Given the description of an element on the screen output the (x, y) to click on. 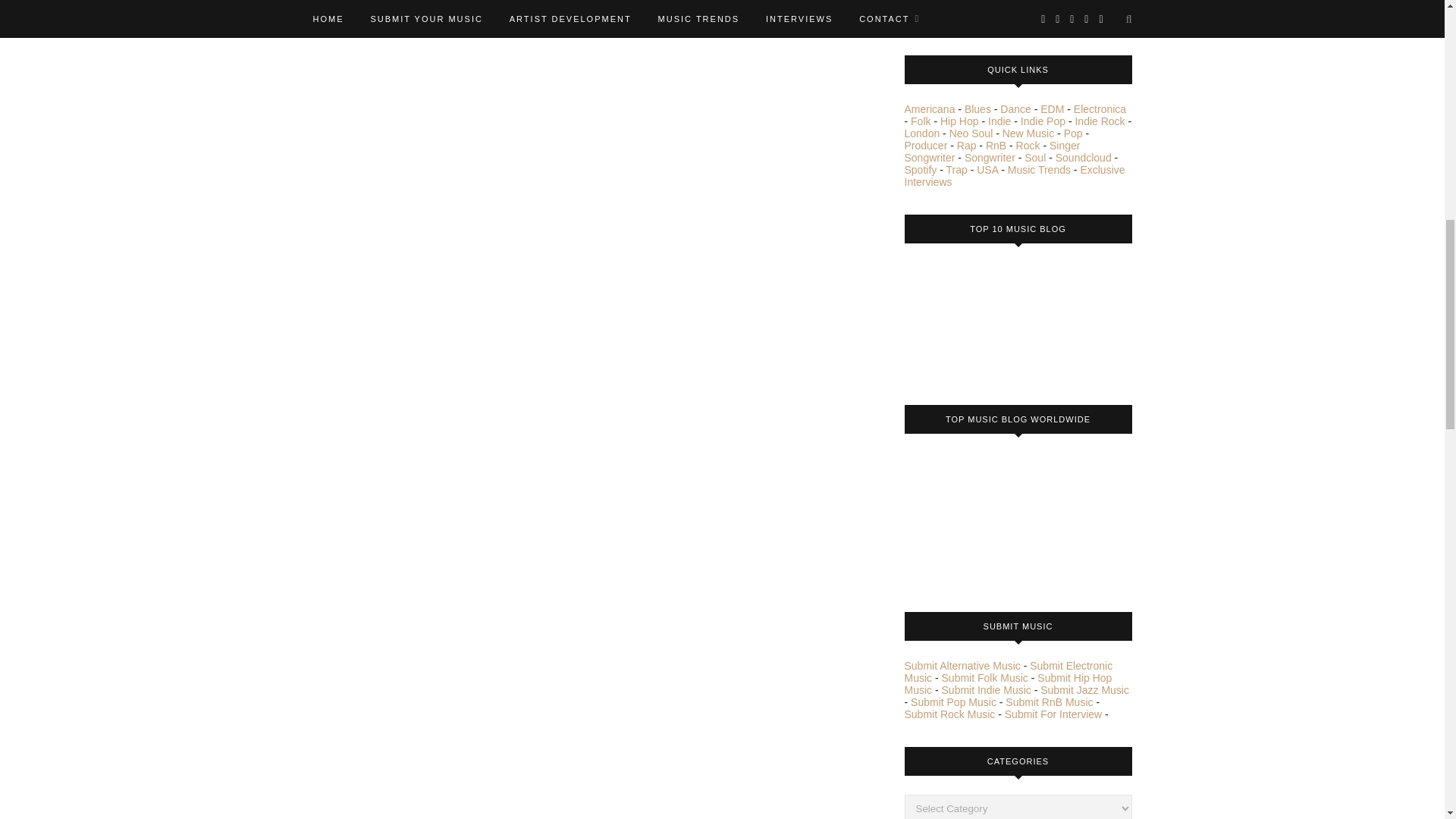
Dance (1015, 109)
Indie Rock (1099, 121)
New Music (1028, 133)
Folk (920, 121)
London (921, 133)
Hip Hop (959, 121)
Indie (999, 121)
EDM (1052, 109)
Electronica (1099, 109)
Indie Pop (1042, 121)
